Given the description of an element on the screen output the (x, y) to click on. 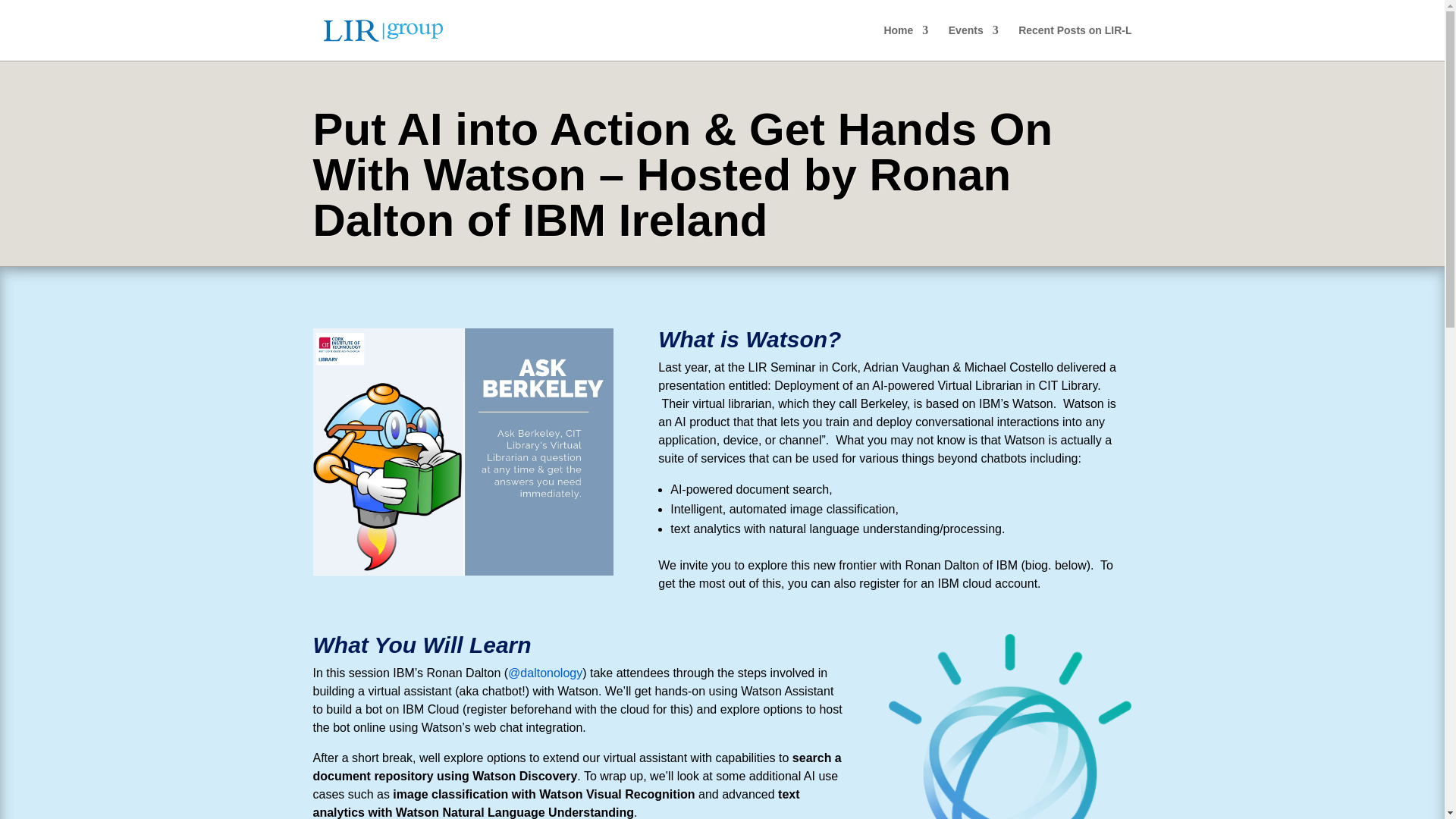
robot (462, 451)
Home (905, 42)
Recent Posts on LIR-L (1074, 42)
Events (973, 42)
